Given the description of an element on the screen output the (x, y) to click on. 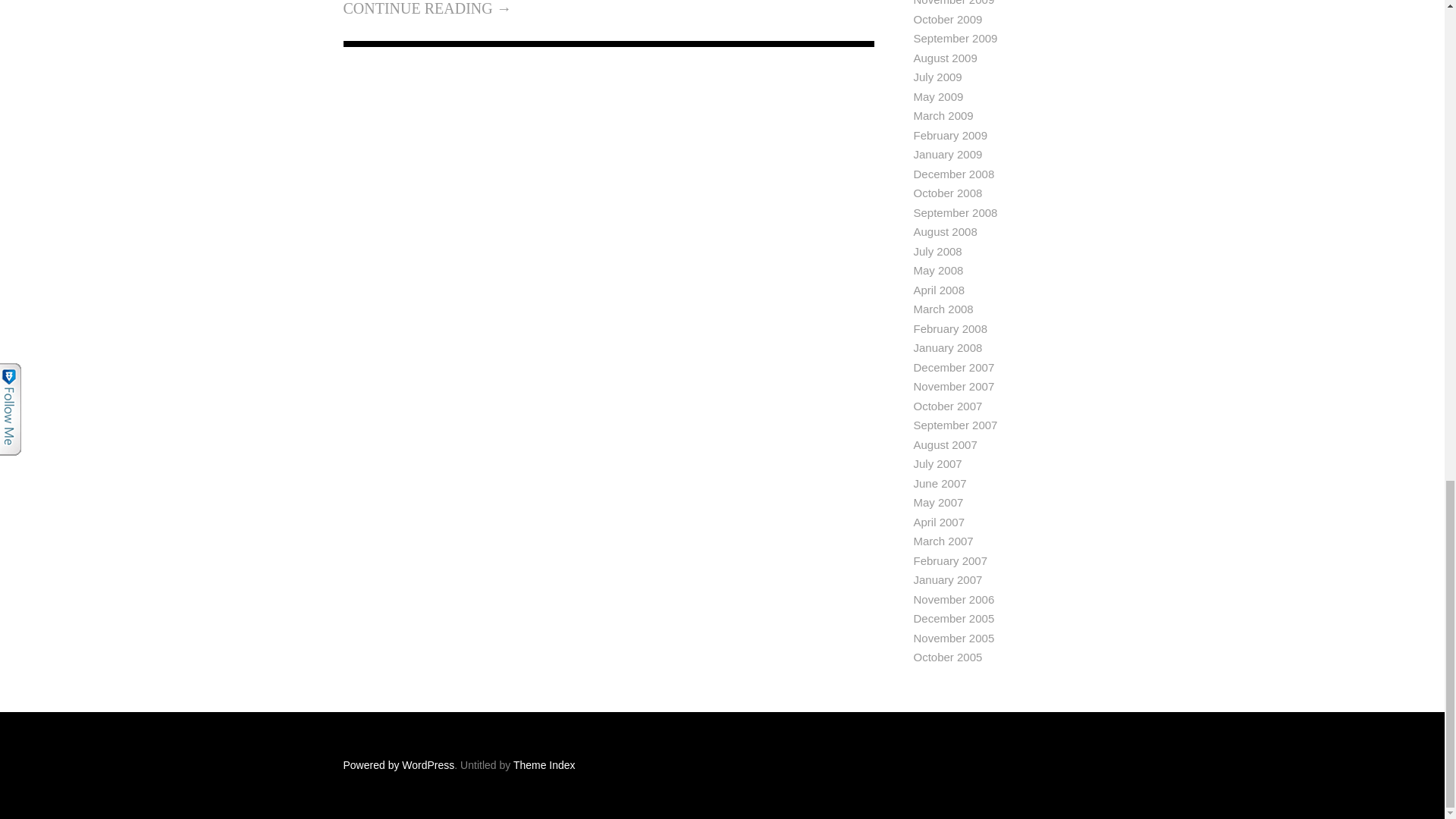
A Semantic Personal Publishing Platform (398, 765)
